Given the description of an element on the screen output the (x, y) to click on. 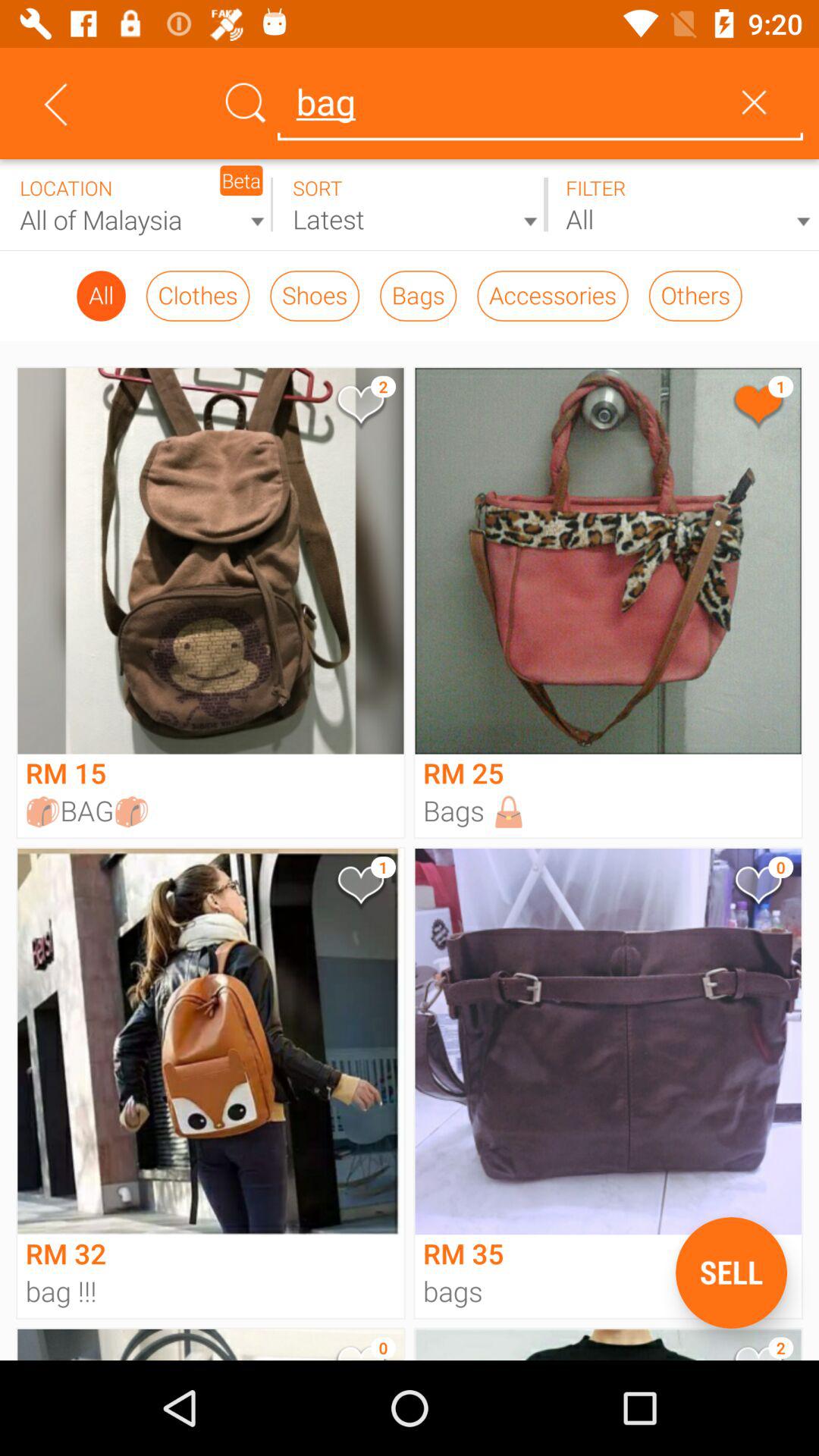
toggle how items are sorted (409, 204)
